Given the description of an element on the screen output the (x, y) to click on. 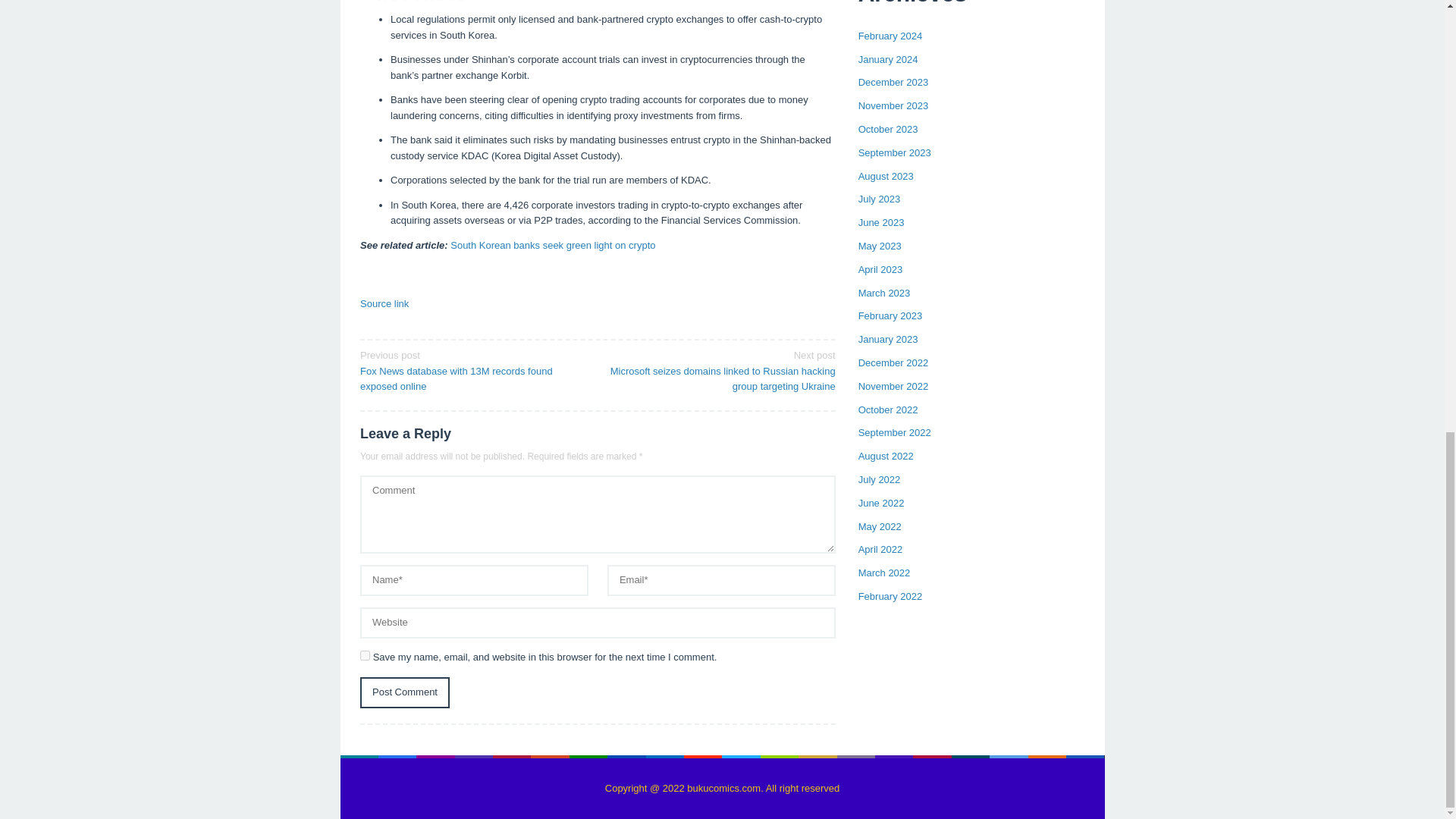
May 2023 (880, 245)
January 2024 (888, 59)
South Korean banks seek green light on crypto (552, 244)
Source link (384, 303)
April 2023 (880, 269)
October 2023 (888, 129)
March 2023 (885, 292)
December 2022 (893, 362)
